Given the description of an element on the screen output the (x, y) to click on. 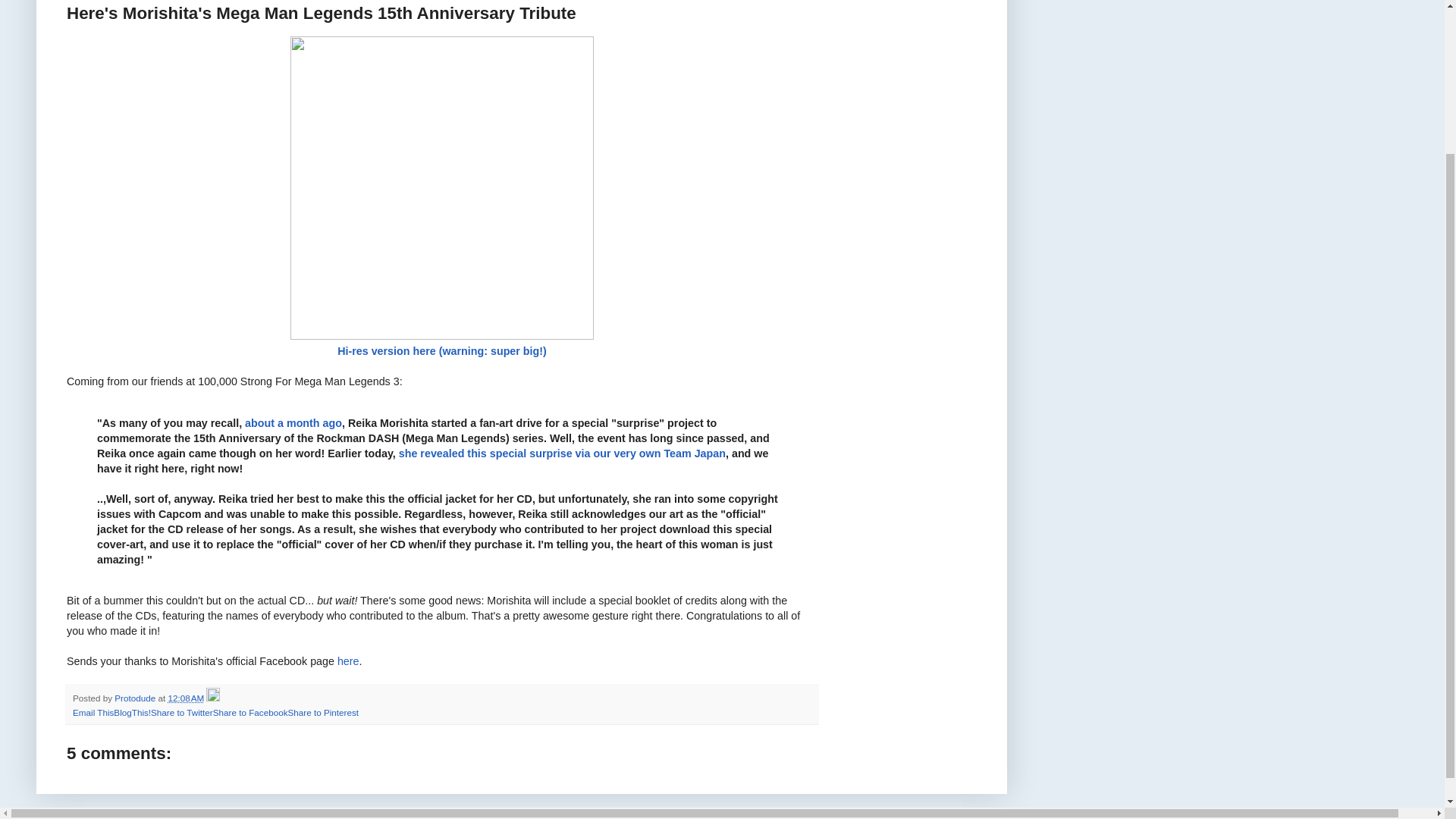
here (348, 661)
Share to Twitter (181, 712)
Protodude (136, 697)
Edit Post (212, 697)
Email This (92, 712)
Share to Facebook (250, 712)
BlogThis! (132, 712)
Email This (92, 712)
BlogThis! (132, 712)
permanent link (185, 697)
